Given the description of an element on the screen output the (x, y) to click on. 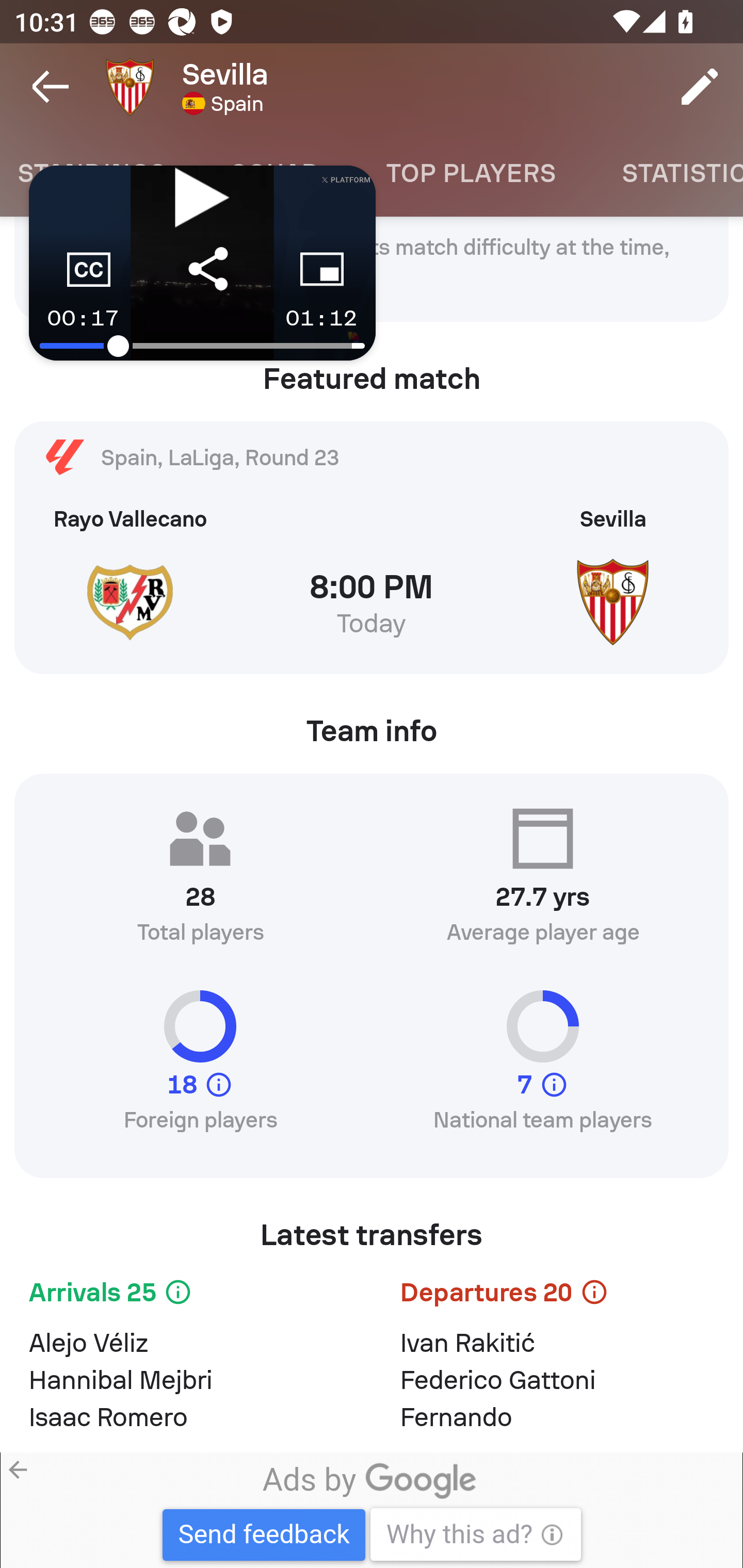
Navigate up (50, 86)
Edit (699, 86)
Top players TOP PLAYERS (471, 173)
Statistics STATISTICS (666, 173)
18 Foreign players (199, 1069)
7 National team players (542, 1069)
Arrivals 25 (185, 1295)
Departures 20 (557, 1295)
